Given the description of an element on the screen output the (x, y) to click on. 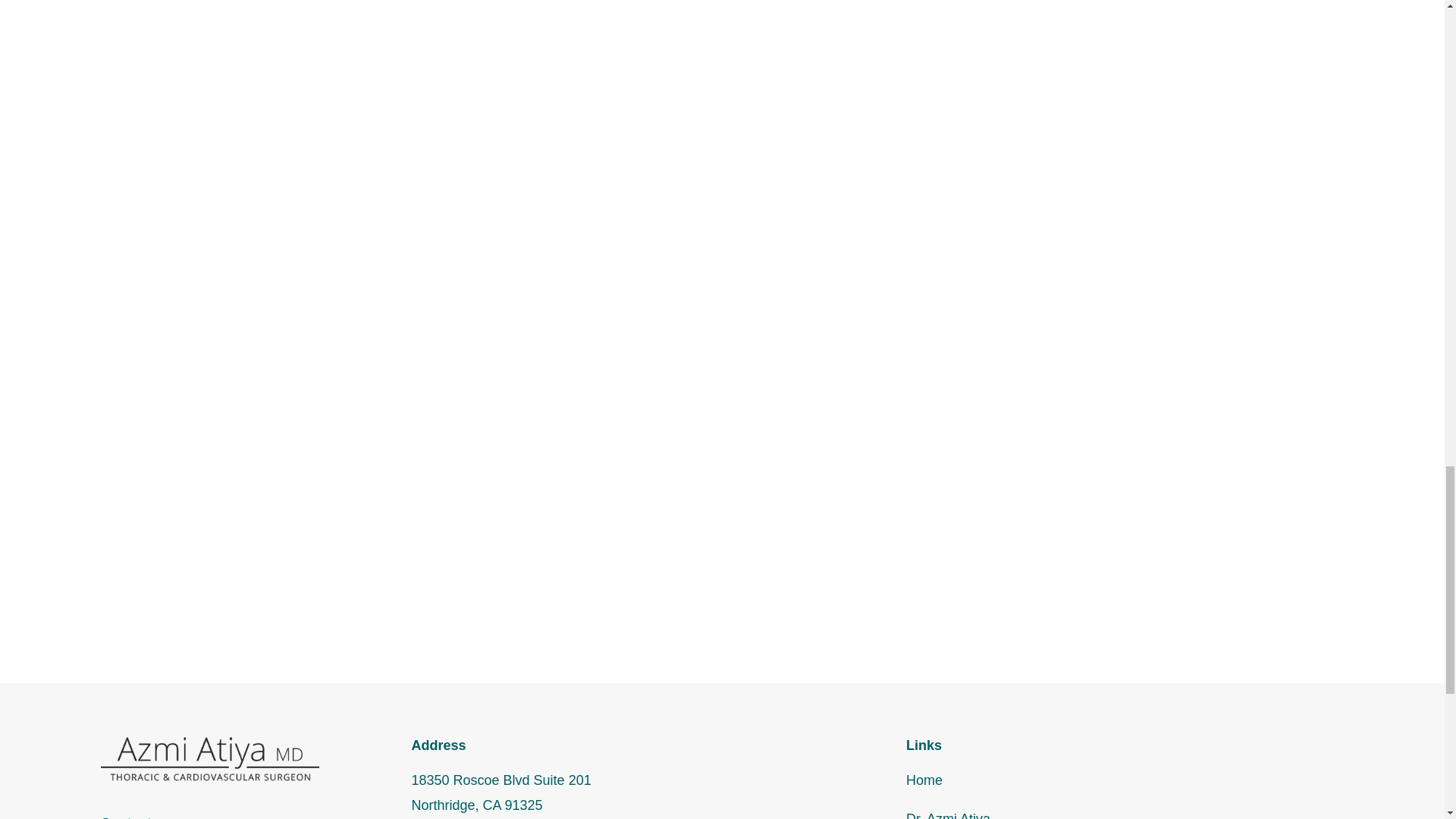
Home (209, 759)
